Given the description of an element on the screen output the (x, y) to click on. 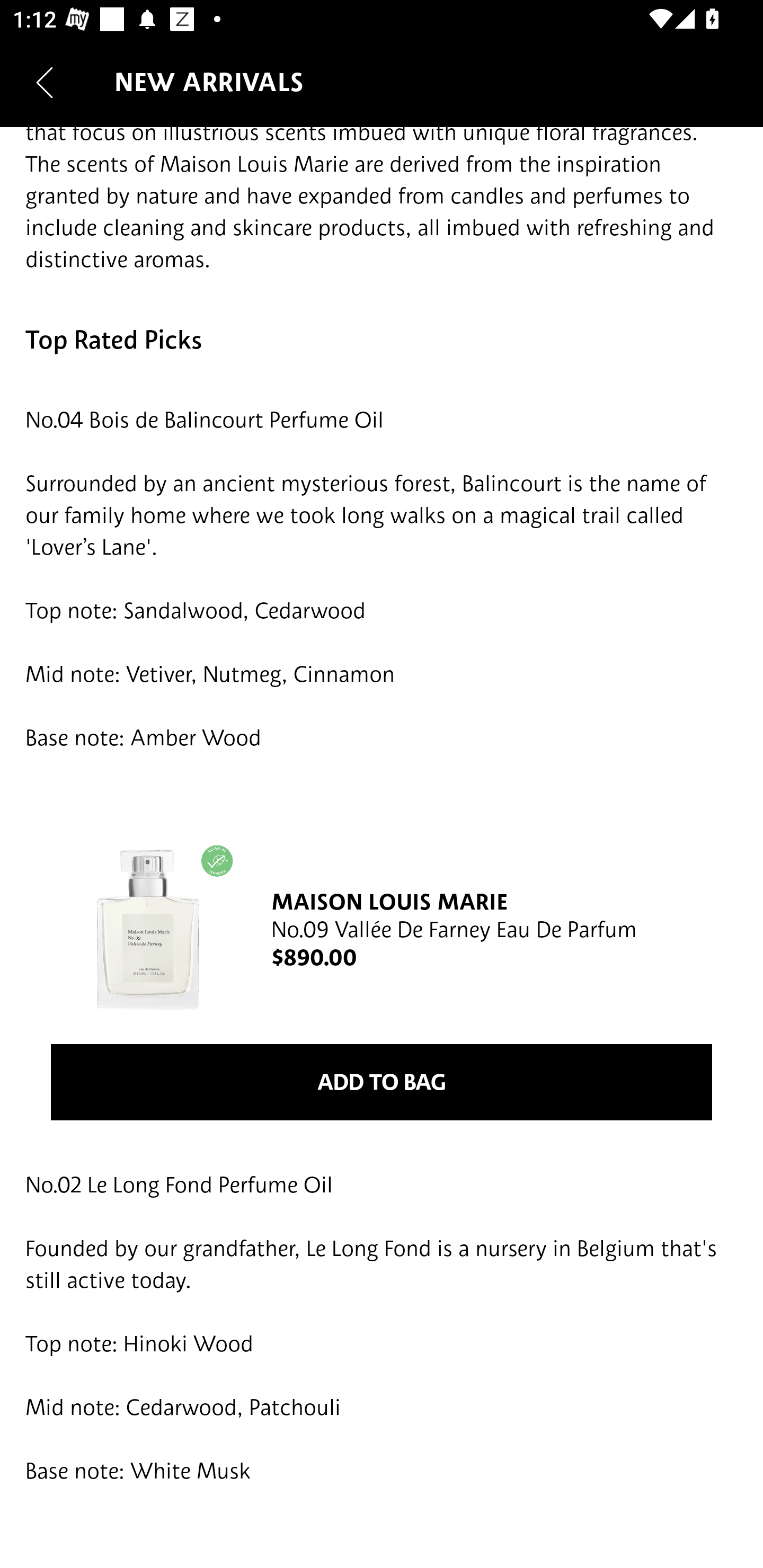
Navigate up (44, 82)
Top Rated Picks (381, 340)
ADD TO BAG (381, 1082)
